Given the description of an element on the screen output the (x, y) to click on. 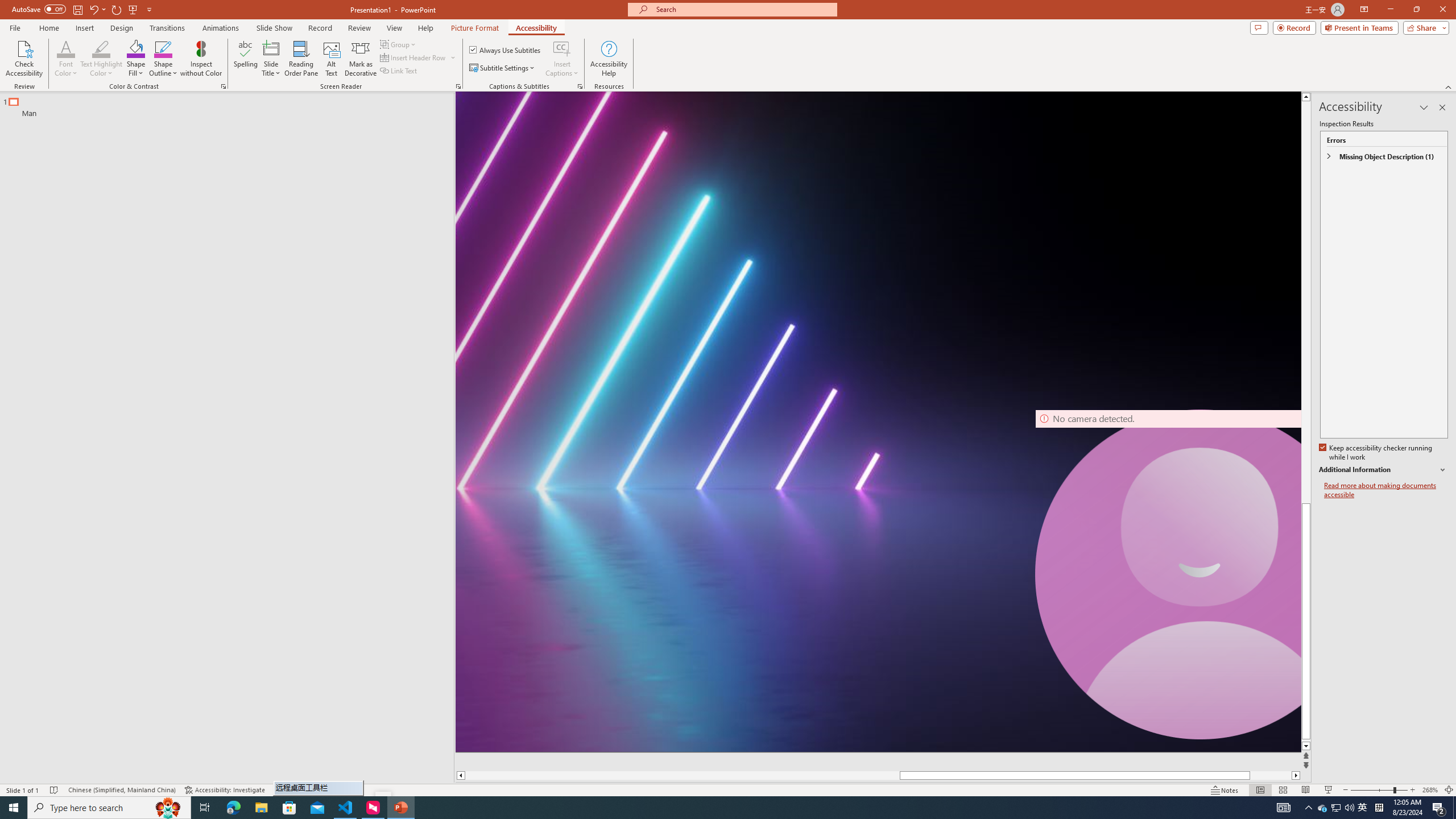
Close (1442, 9)
Shape Outline (163, 58)
Insert Header Row (413, 56)
Link Text (399, 69)
Mark as Decorative (360, 58)
Shape Fill Orange, Accent 2 (135, 48)
Undo (96, 9)
Insert Header Row (418, 56)
Share (1423, 27)
Group (398, 44)
Captions & Subtitles (580, 85)
System (6, 6)
Spelling... (245, 58)
Outline (231, 104)
Zoom 268% (1430, 790)
